Given the description of an element on the screen output the (x, y) to click on. 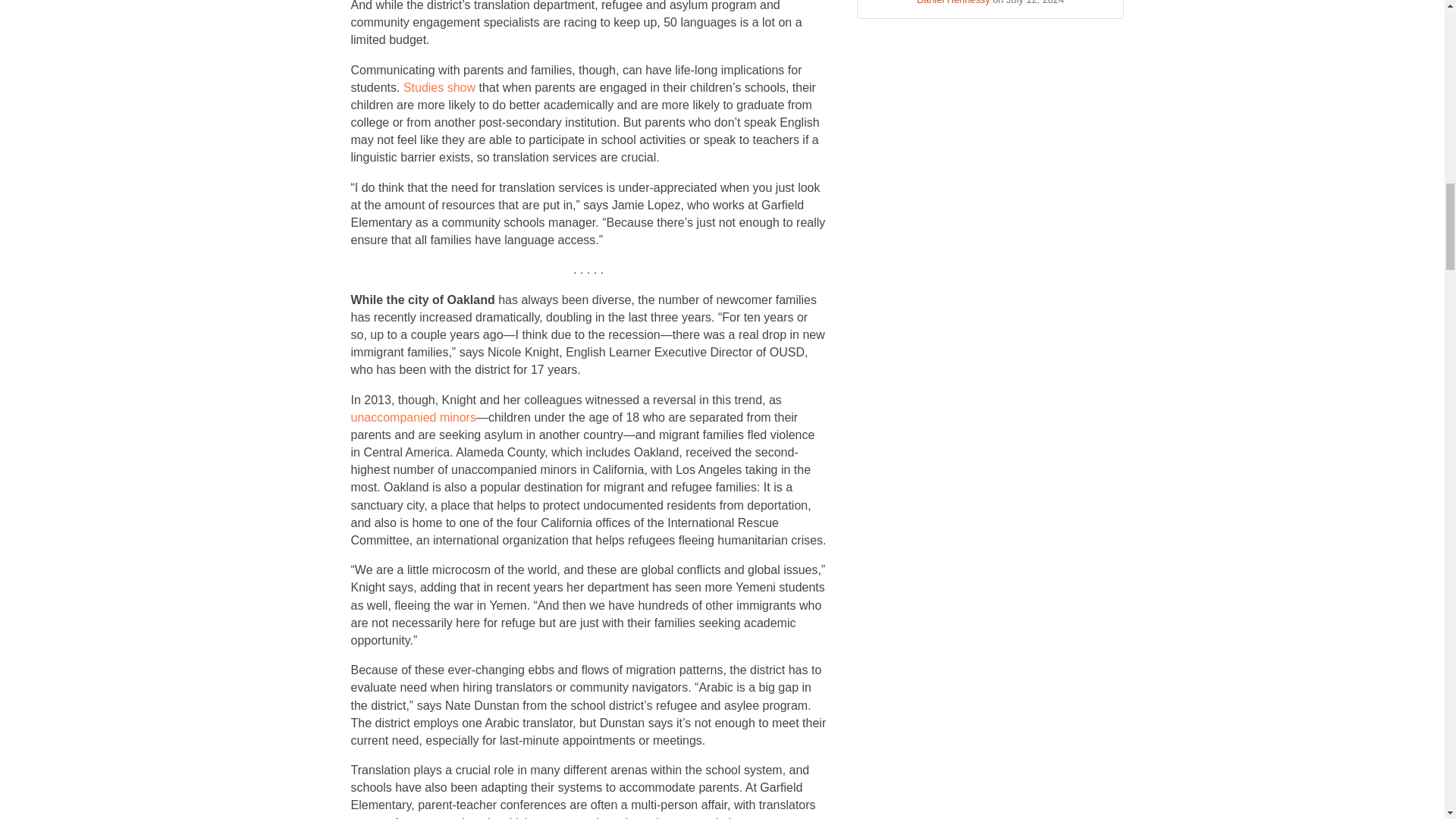
unaccompanied minors (413, 417)
Studies show (439, 87)
Daniel Hennessy (953, 2)
